Given the description of an element on the screen output the (x, y) to click on. 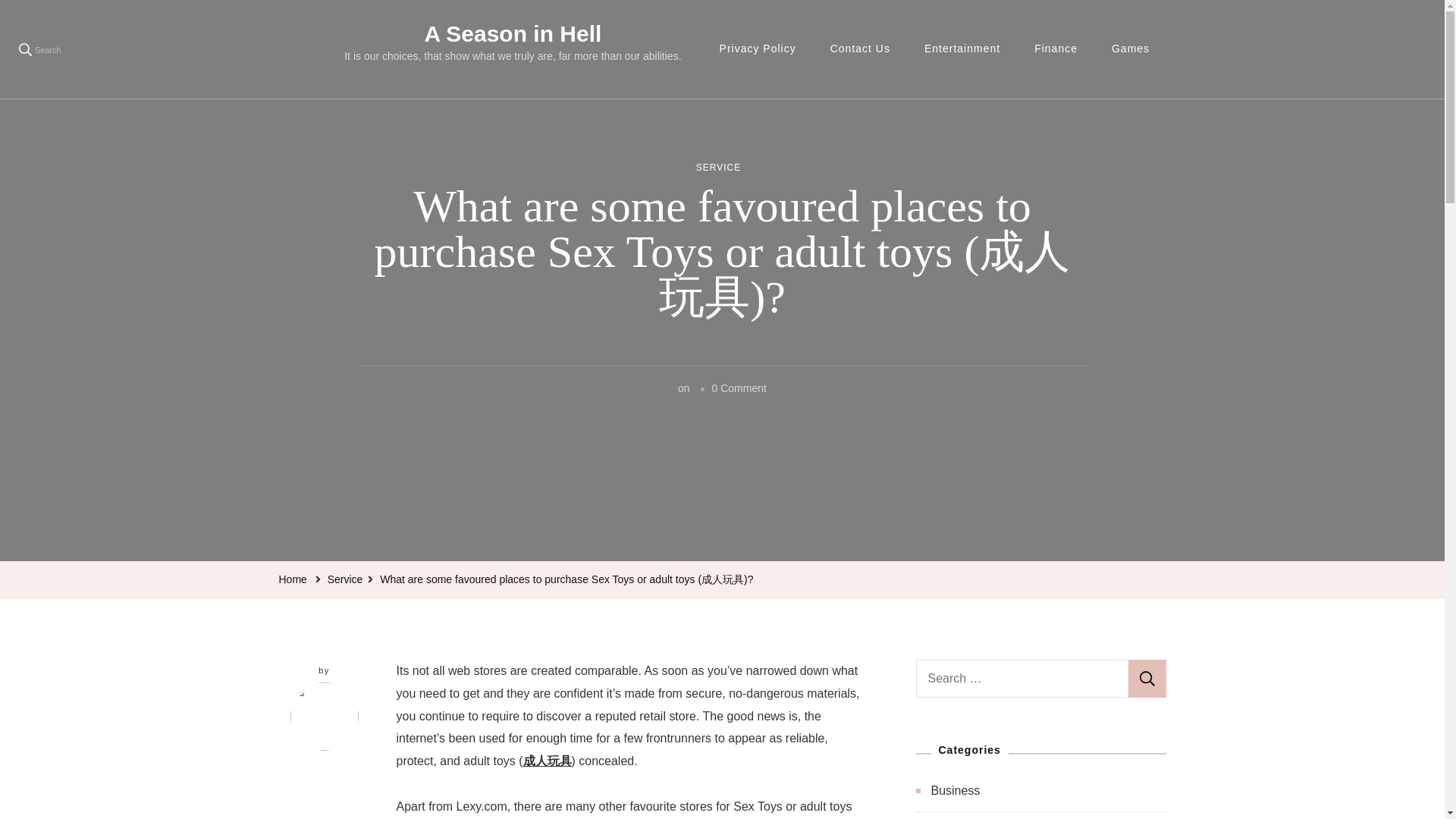
Privacy Policy (757, 49)
SERVICE (718, 168)
Finance (1056, 49)
Home (293, 579)
Contact Us (860, 49)
Search (1147, 678)
Service (344, 579)
Games (1130, 49)
A Season in Hell (512, 33)
Search (1147, 678)
